Given the description of an element on the screen output the (x, y) to click on. 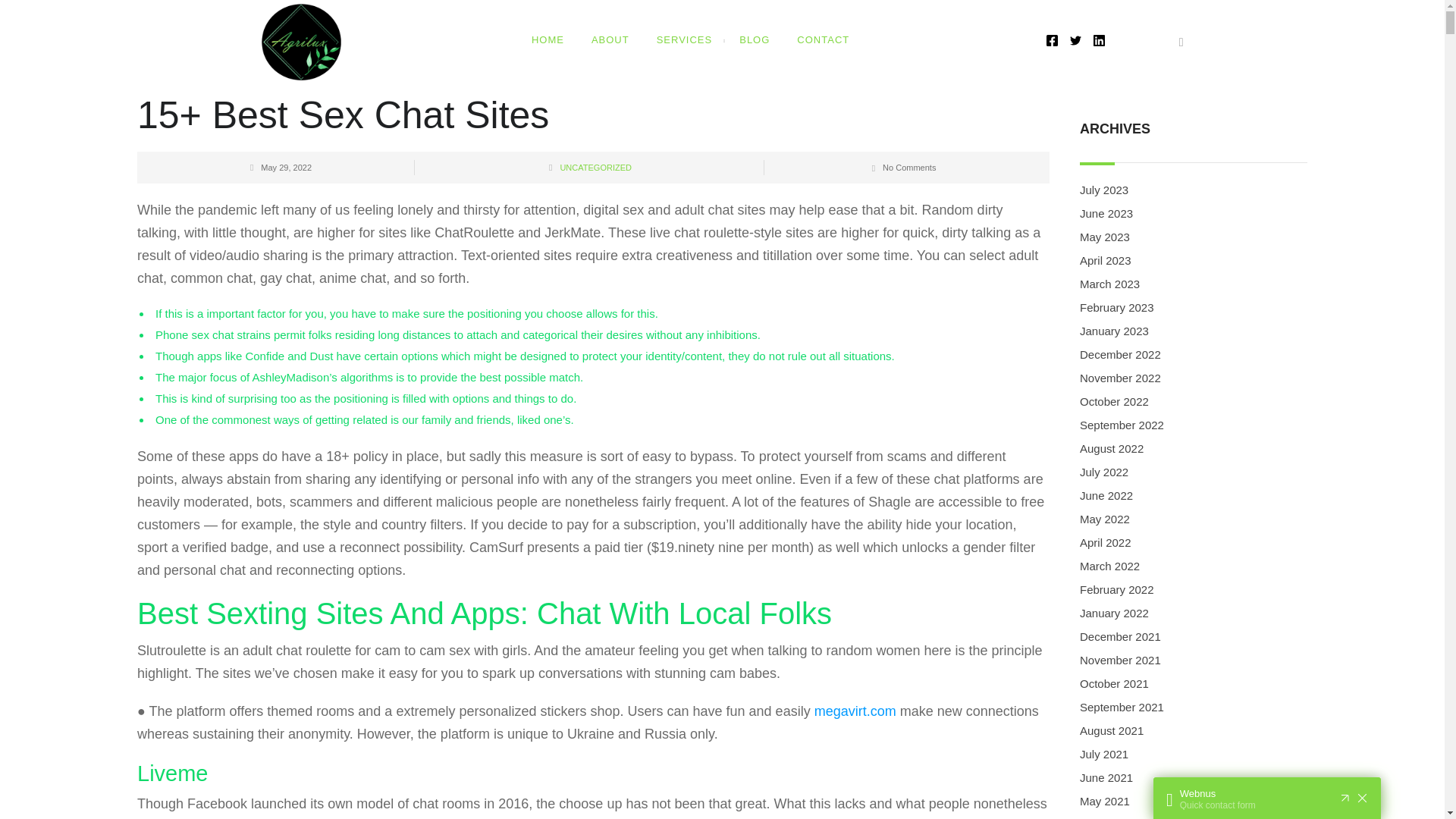
SERVICES (684, 41)
CONTACT (823, 41)
